Given the description of an element on the screen output the (x, y) to click on. 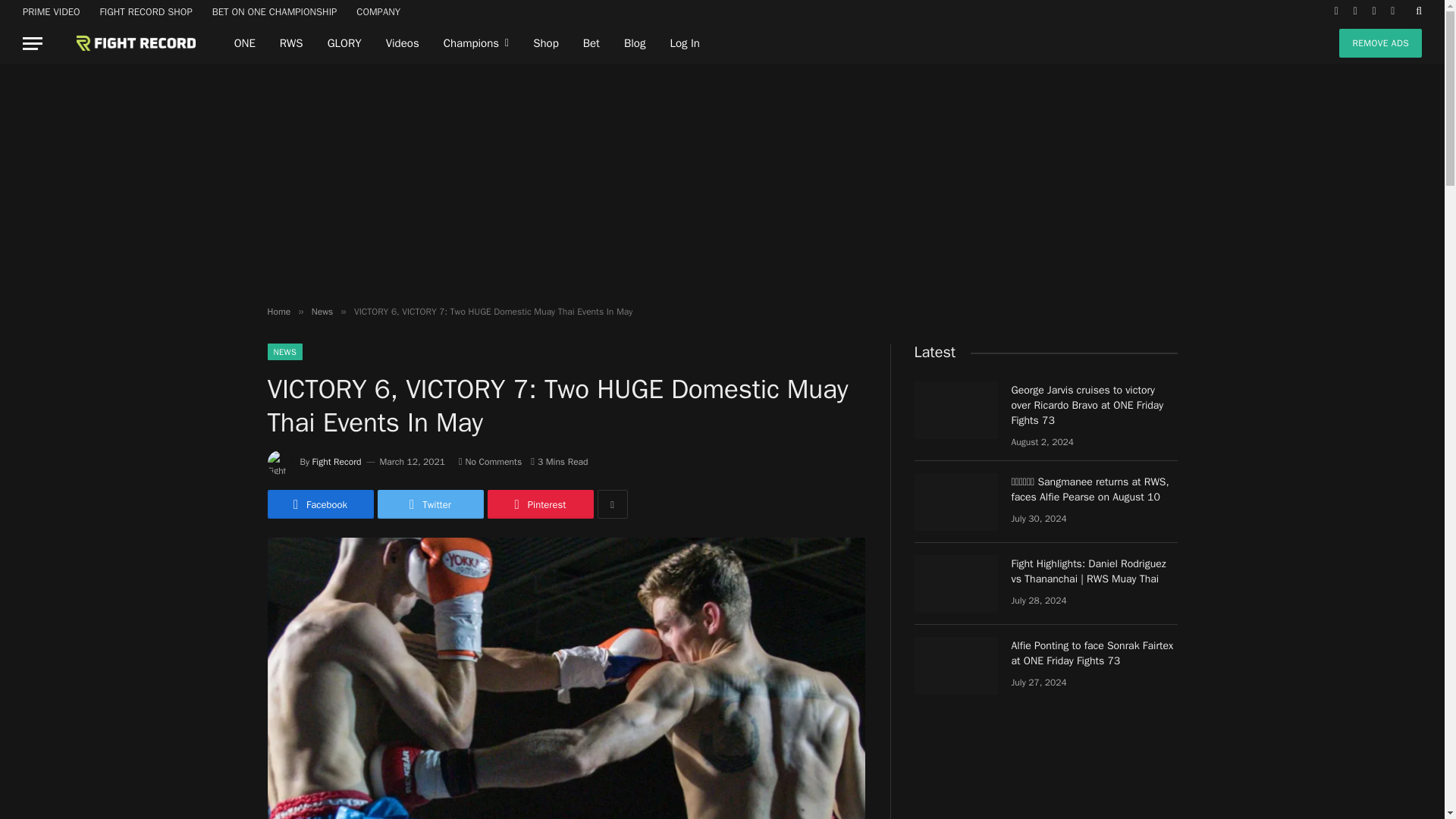
RWS (291, 42)
BET ON ONE CHAMPIONSHIP (274, 11)
PRIME VIDEO (51, 11)
Posts by Fight Record (337, 461)
NEWS (284, 351)
Fight Record (124, 42)
Log In (684, 42)
News (322, 311)
COMPANY (378, 11)
Facebook (319, 503)
Show More Social Sharing (611, 503)
Bet (590, 42)
No Comments (489, 461)
Home (277, 311)
